Given the description of an element on the screen output the (x, y) to click on. 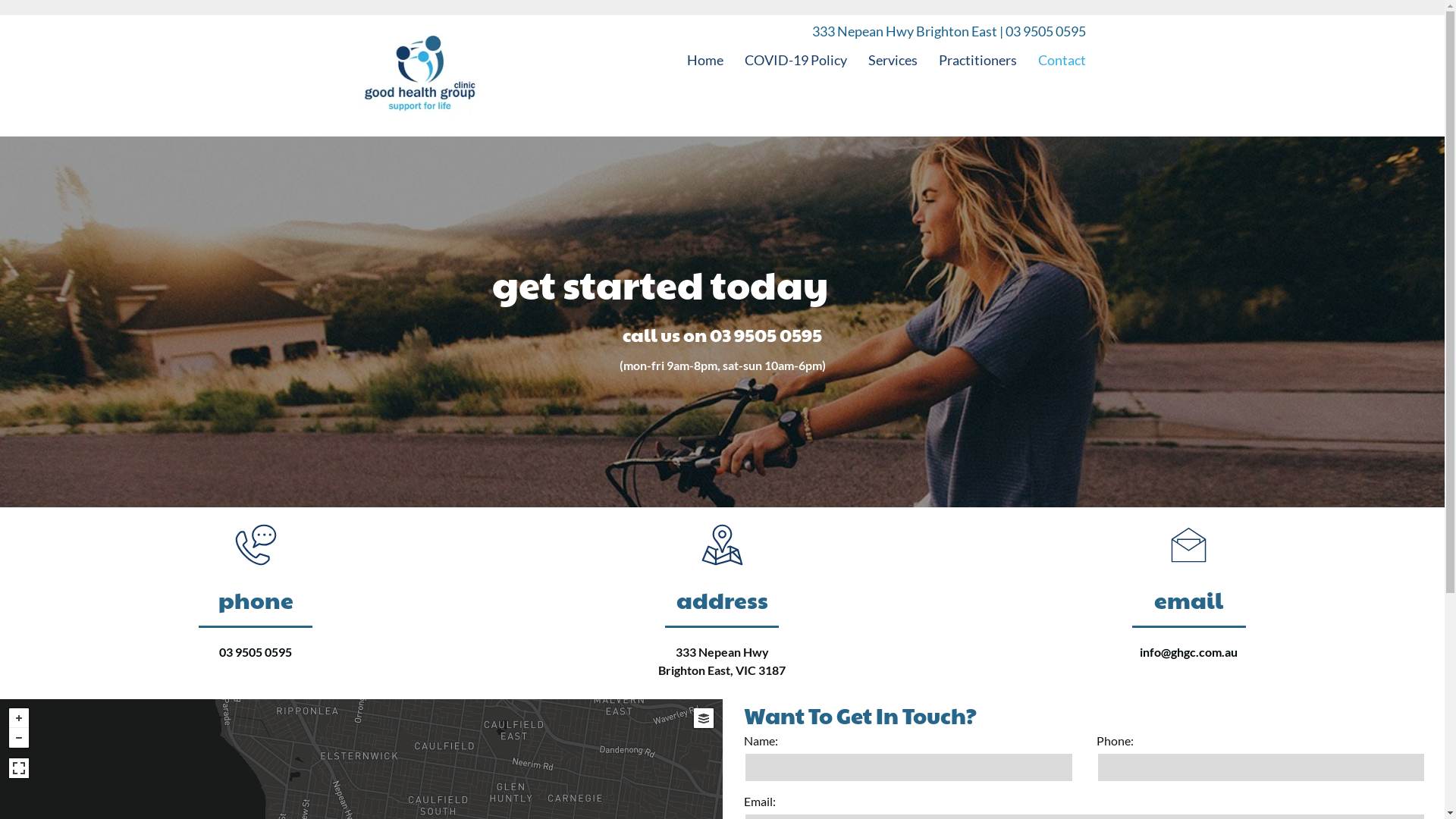
03 9505 0595 Element type: text (255, 651)
Services Element type: text (892, 59)
COVID-19 Policy Element type: text (795, 59)
Practitioners Element type: text (977, 59)
phone icon Element type: hover (255, 543)
icon of map Element type: hover (721, 543)
+ Element type: text (18, 718)
i Element type: text (1140, 651)
- Element type: text (18, 737)
View Fullscreen Element type: hover (18, 768)
Good Health Group logo Element type: hover (418, 75)
Layers Element type: hover (702, 718)
Contact Element type: text (1061, 59)
Home Element type: text (705, 59)
icon of envelope Element type: hover (1188, 543)
